Given the description of an element on the screen output the (x, y) to click on. 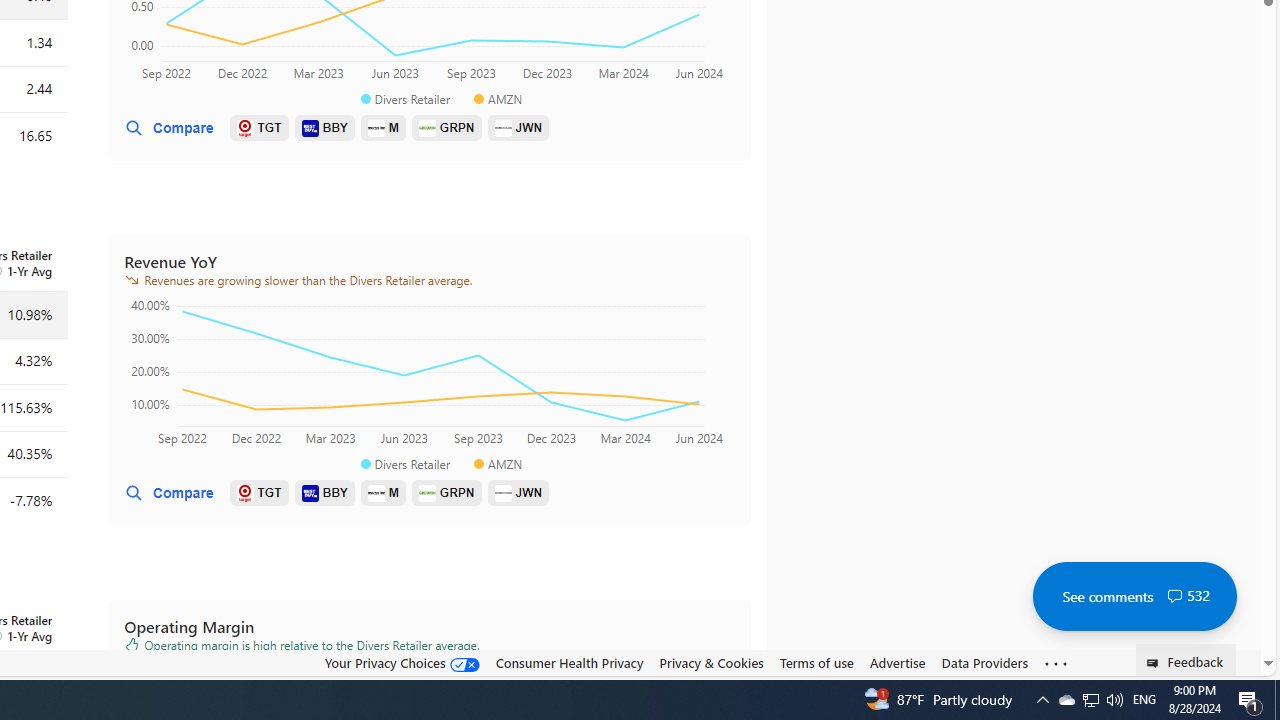
M (382, 493)
Class: react-financial-charts (429, 375)
Compare (168, 493)
Advertise (897, 662)
Advertise (897, 663)
Terms of use (816, 663)
Class: cwt-icon-vector (1174, 596)
Class: feedback_link_icon-DS-EntryPoint1-1 (1156, 663)
GRPN (446, 493)
Your Privacy Choices (401, 663)
TGT (259, 493)
See comments 532 (1133, 596)
